Given the description of an element on the screen output the (x, y) to click on. 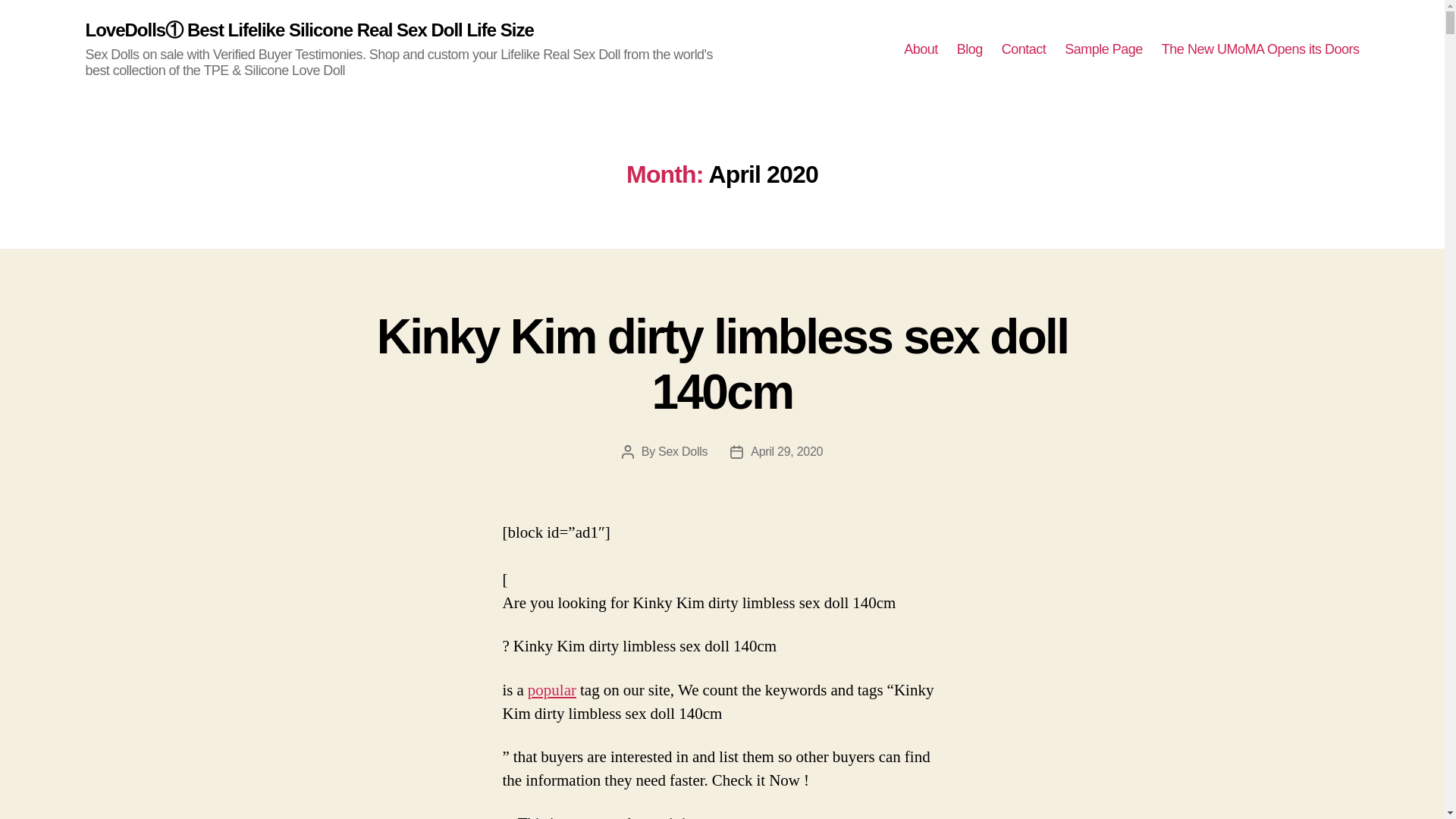
Sex Dolls (682, 451)
Blog (969, 49)
new (593, 816)
popular (551, 690)
About (920, 49)
Kinky Kim dirty limbless sex doll 140cm (722, 364)
Sample Page (1103, 49)
April 29, 2020 (786, 451)
Contact (1023, 49)
The New UMoMA Opens its Doors (1260, 49)
